Given the description of an element on the screen output the (x, y) to click on. 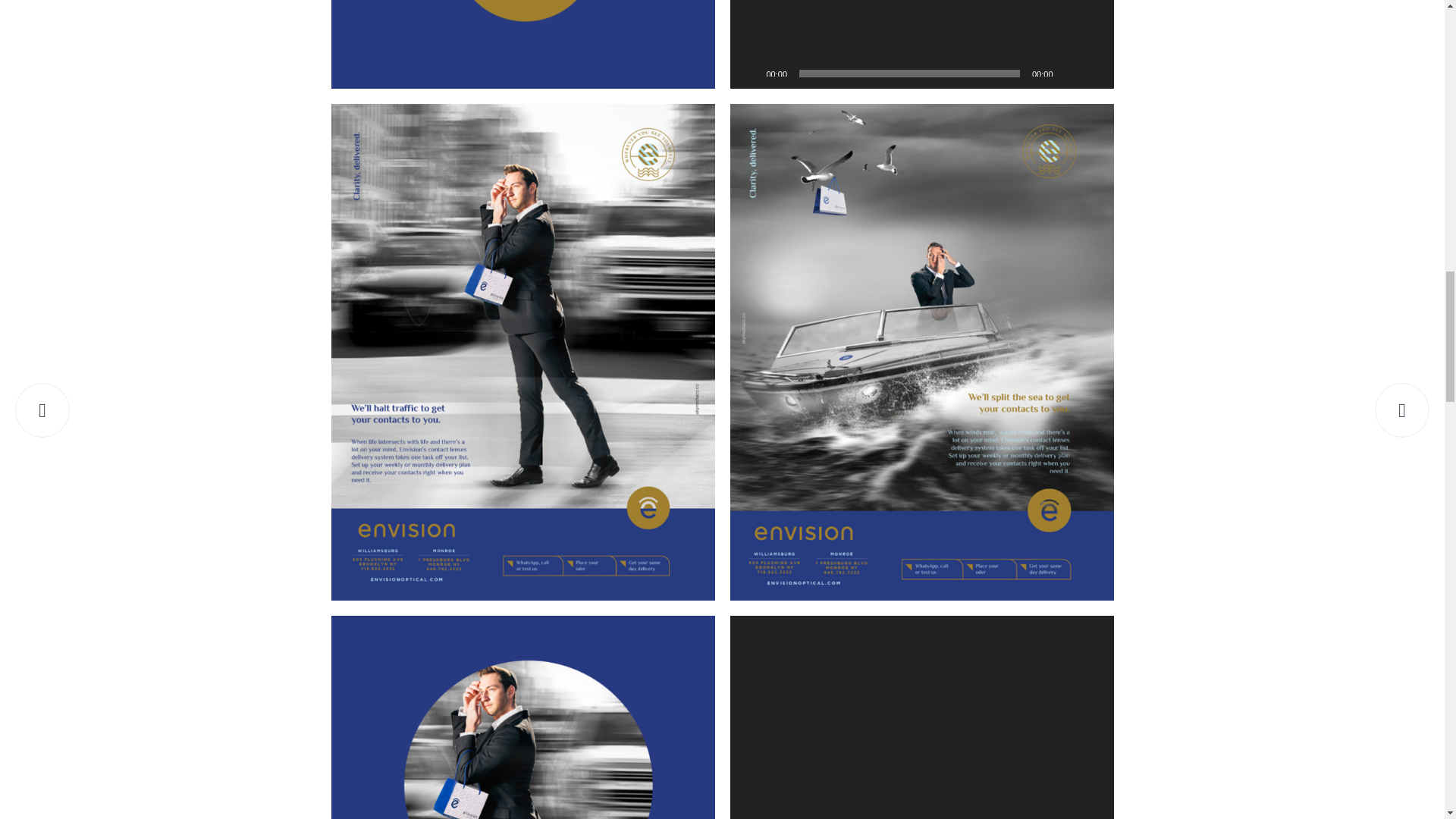
Play (749, 73)
Envision-img-06 (522, 717)
Envision-img-7 (522, 44)
